Given the description of an element on the screen output the (x, y) to click on. 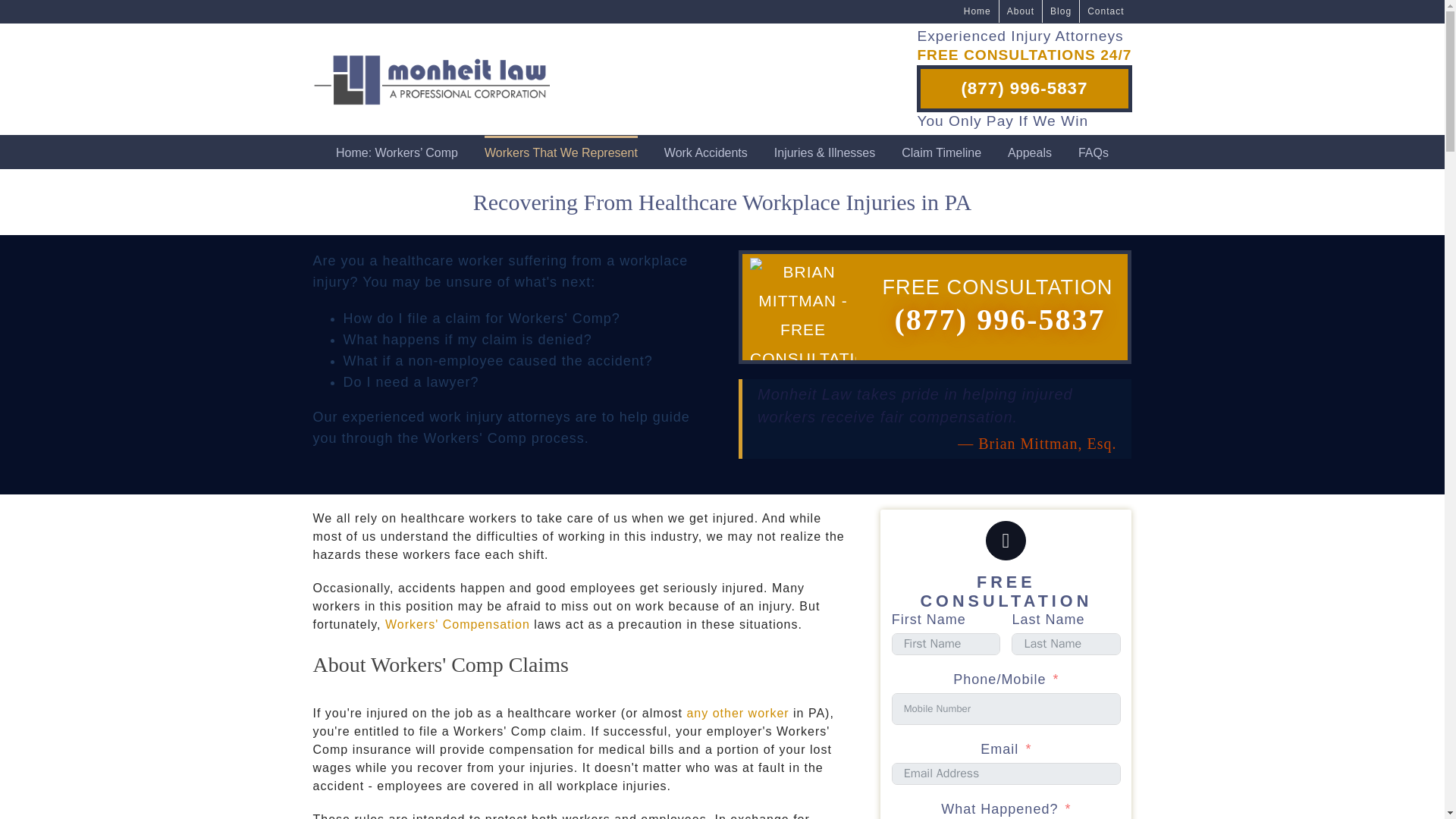
Blog (1060, 11)
Work Accidents (705, 151)
About (1020, 11)
Home (977, 11)
Contact (1105, 11)
Workers That We Represent (560, 151)
